Given the description of an element on the screen output the (x, y) to click on. 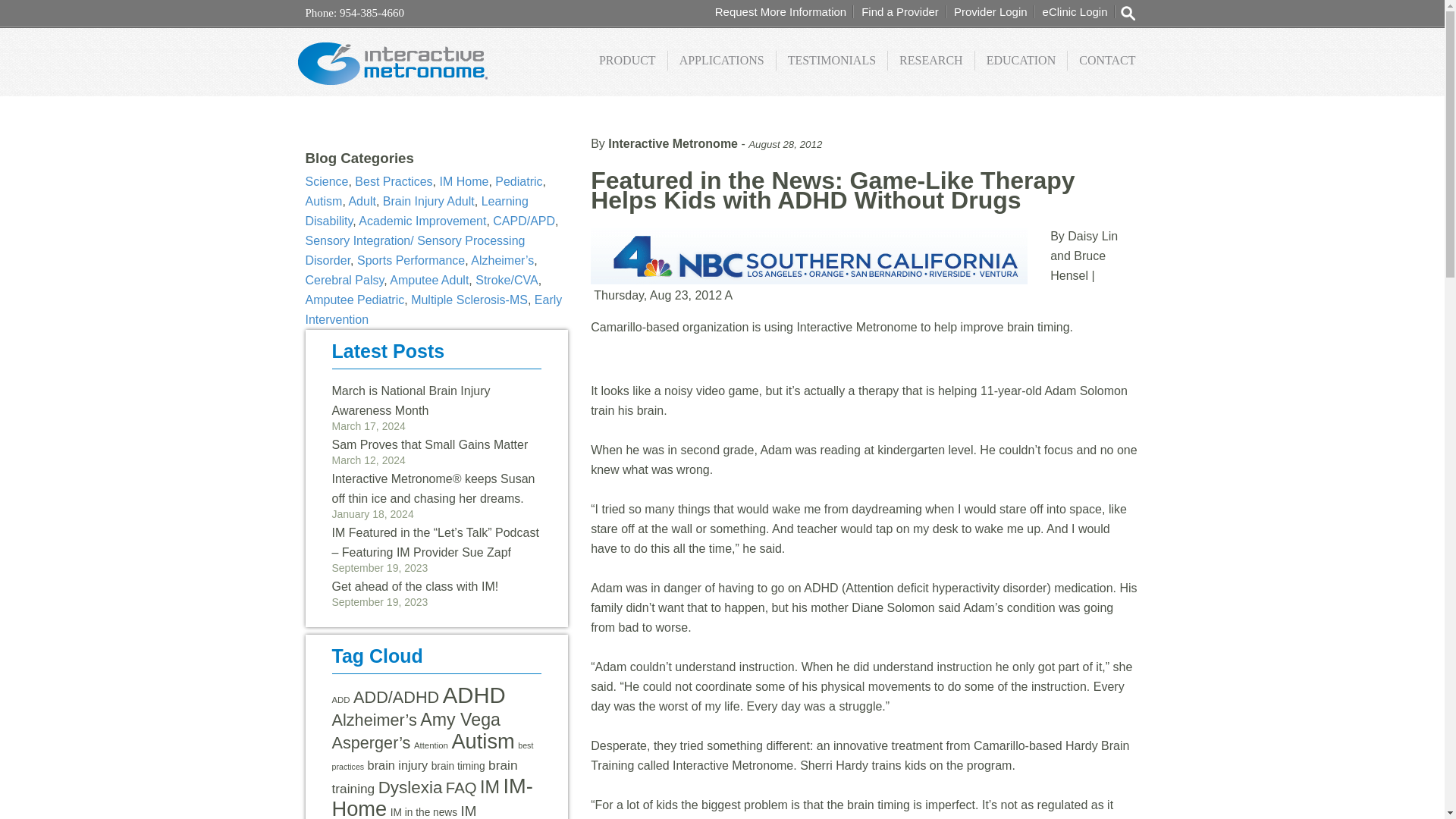
APPLICATIONS (722, 60)
View all posts in Cerebral Palsy (344, 279)
RESEARCH (931, 60)
954-385-4660 (370, 12)
View all posts in Adult (361, 201)
View all posts in Academic Improvement (422, 220)
View all posts in Brain Injury Adult (428, 201)
View all posts in Autism (323, 201)
TESTIMONIALS (832, 60)
Request More Information (780, 11)
Find a Provider (899, 11)
View all posts in Learning Disability (415, 210)
View all posts in Pediatric (518, 181)
View all posts in Science (325, 181)
View all posts in Sports Performance (410, 259)
